Given the description of an element on the screen output the (x, y) to click on. 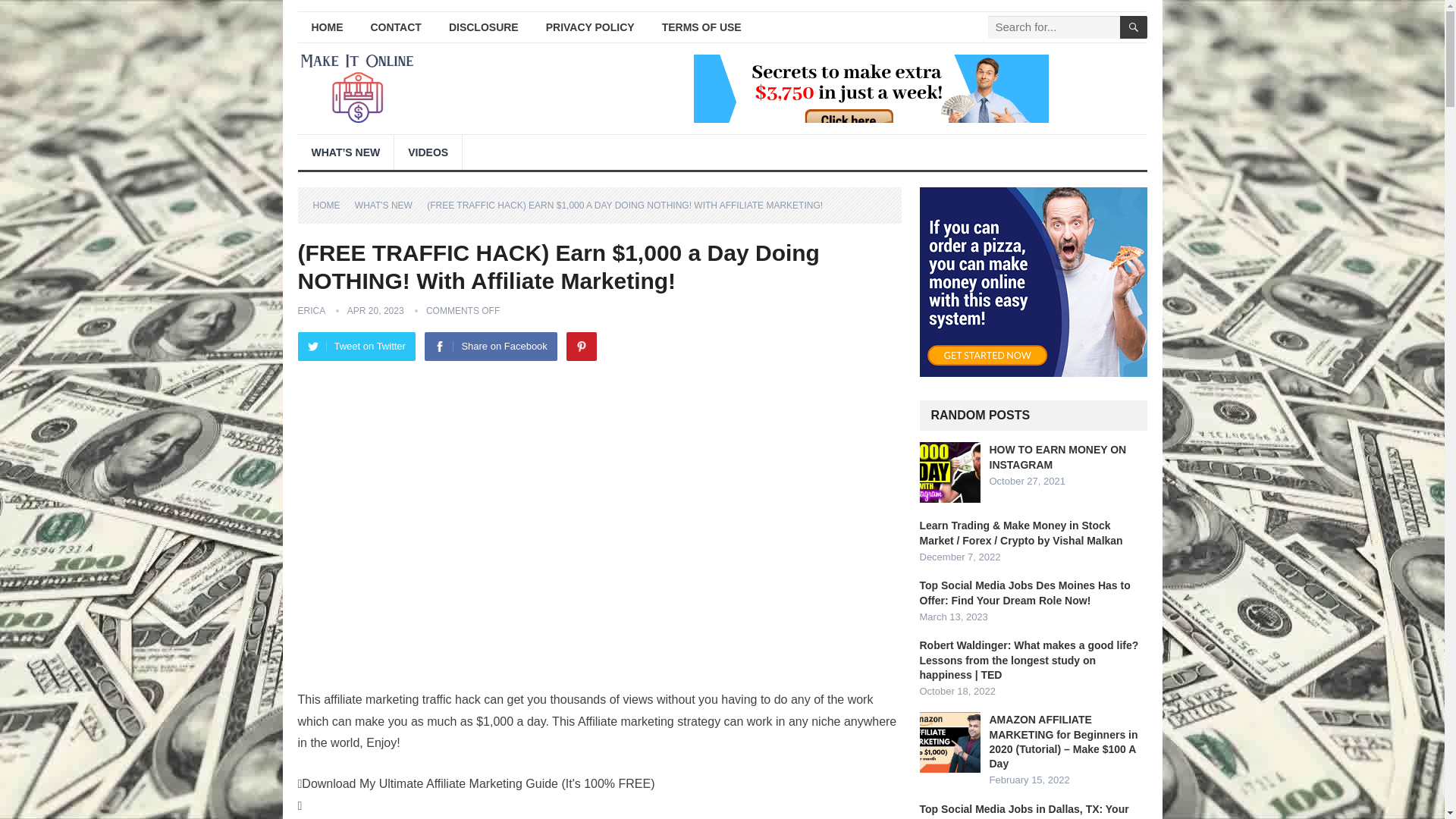
WHAT'S NEW (389, 204)
CONTACT (394, 27)
View all posts in What's New (389, 204)
ERICA (310, 310)
DISCLOSURE (483, 27)
HOME (326, 27)
PRIVACY POLICY (589, 27)
VIDEOS (427, 152)
HOW TO EARN MONEY ON INSTAGRAM 13 (948, 472)
TERMS OF USE (701, 27)
Pinterest (581, 346)
HOME (331, 204)
Posts by Erica (310, 310)
Share on Facebook (490, 346)
